Given the description of an element on the screen output the (x, y) to click on. 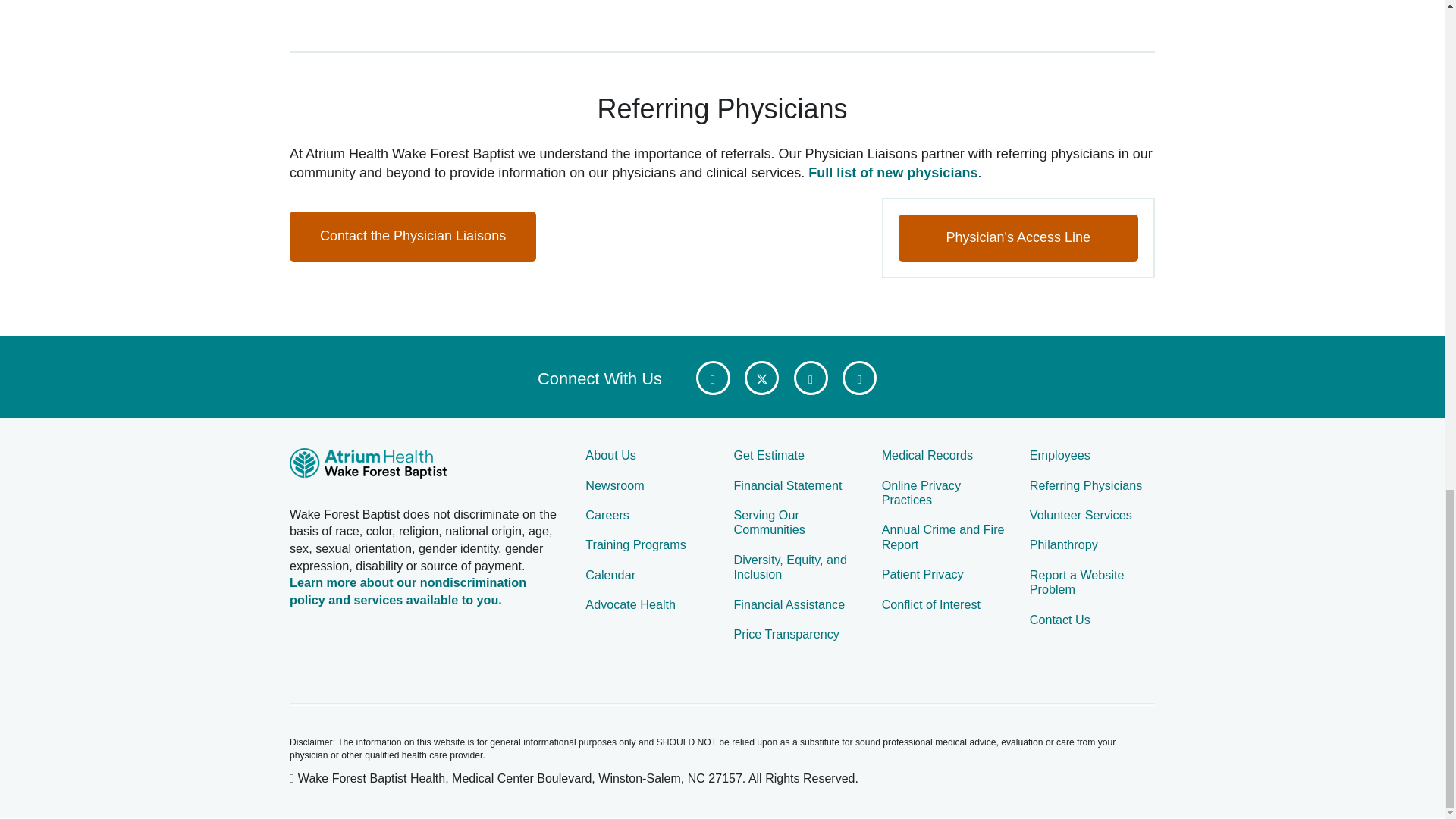
YouTube (810, 377)
Contact the Physician Liaisons (412, 236)
Physician's Access Line (1018, 237)
Instagram (859, 377)
facebook (712, 377)
Full list of new physicians (892, 172)
twitter (761, 377)
Atrium Health Wake Forest Baptist (425, 465)
